Given the description of an element on the screen output the (x, y) to click on. 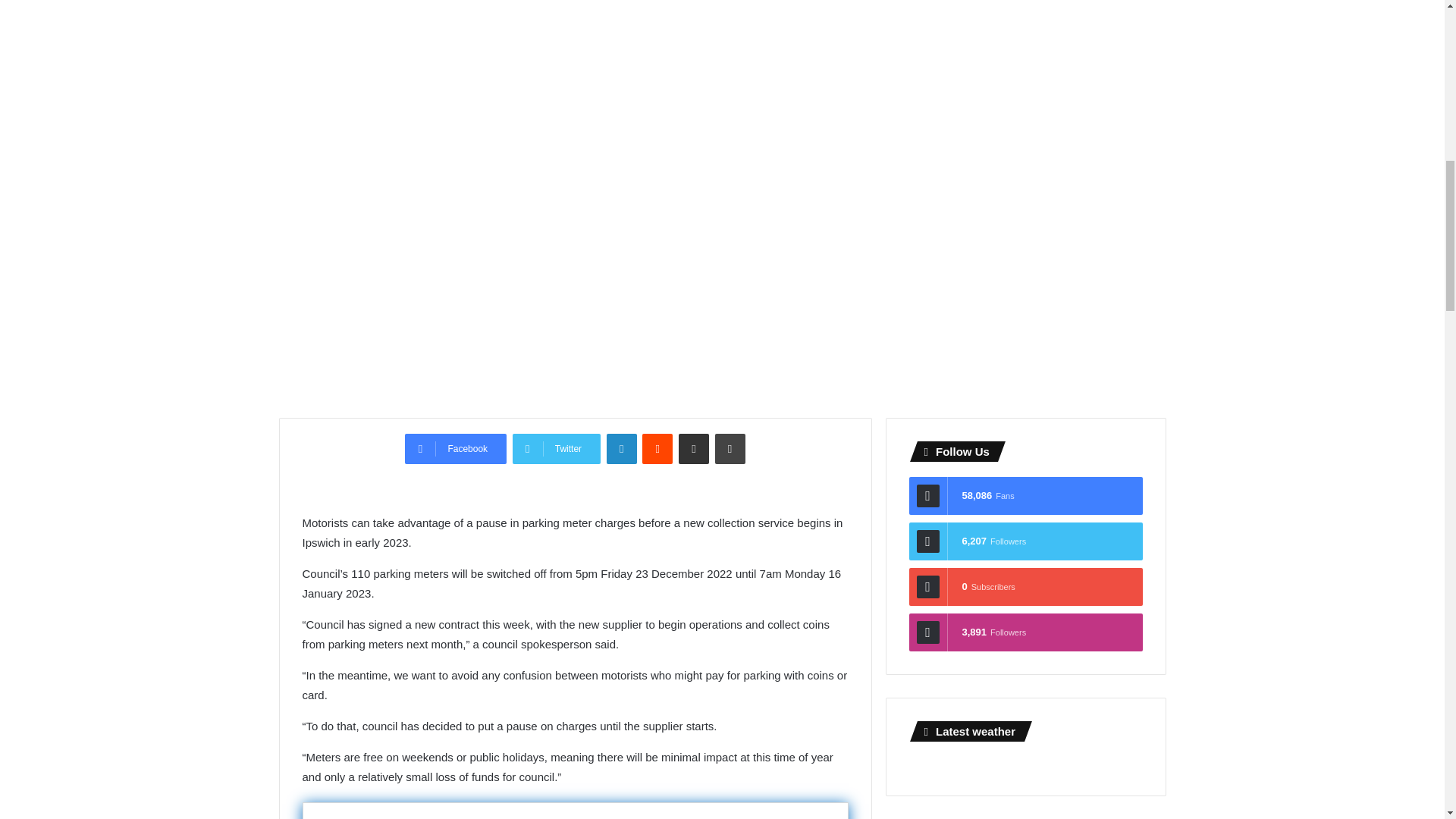
LinkedIn (622, 449)
Share via Email (693, 449)
Facebook (455, 449)
LinkedIn (622, 449)
Reddit (657, 449)
Print (729, 449)
Twitter (555, 449)
Facebook (455, 449)
Twitter (555, 449)
